Given the description of an element on the screen output the (x, y) to click on. 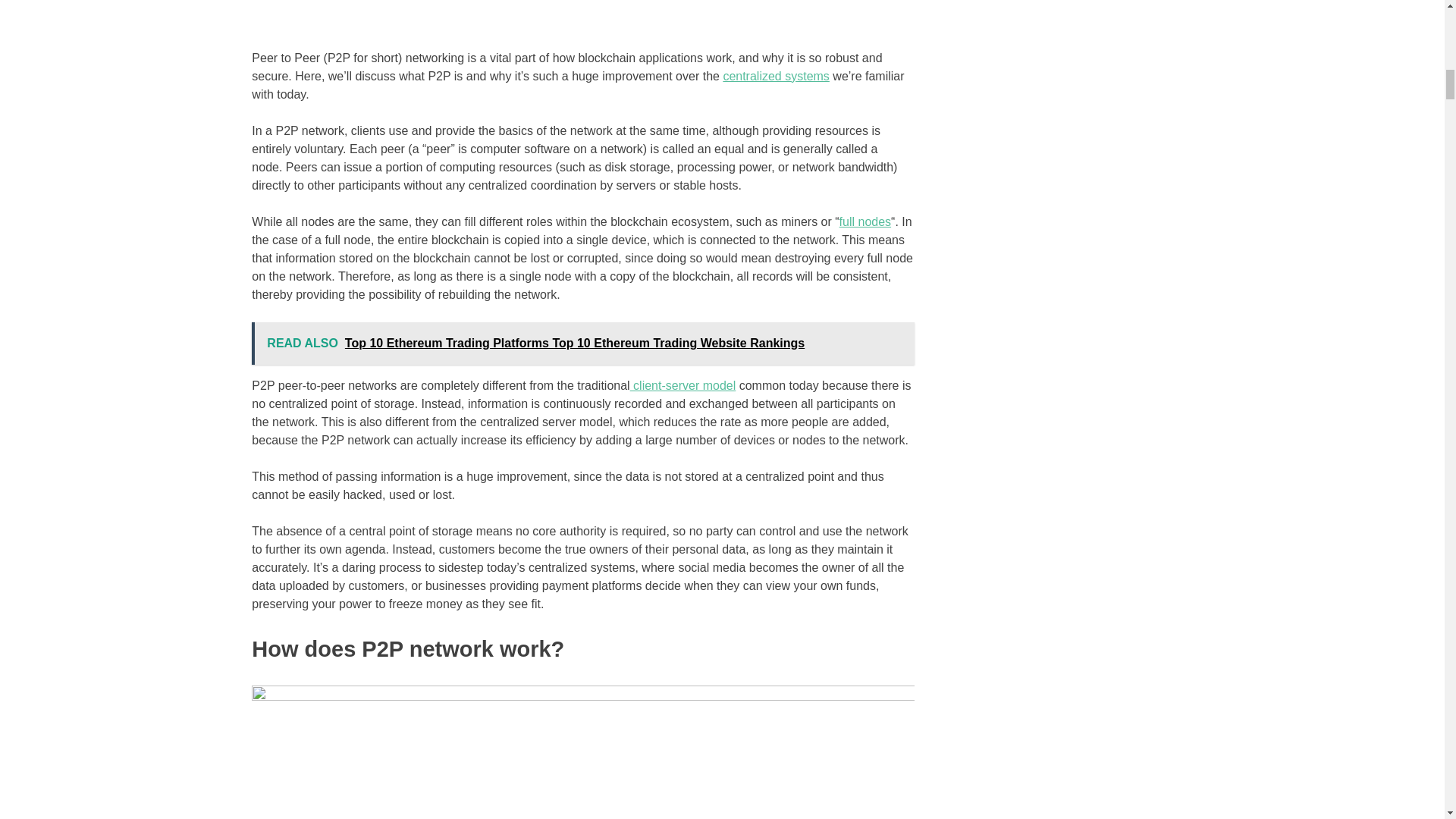
client-server model (683, 385)
centralized systems (775, 75)
full nodes (865, 221)
